Given the description of an element on the screen output the (x, y) to click on. 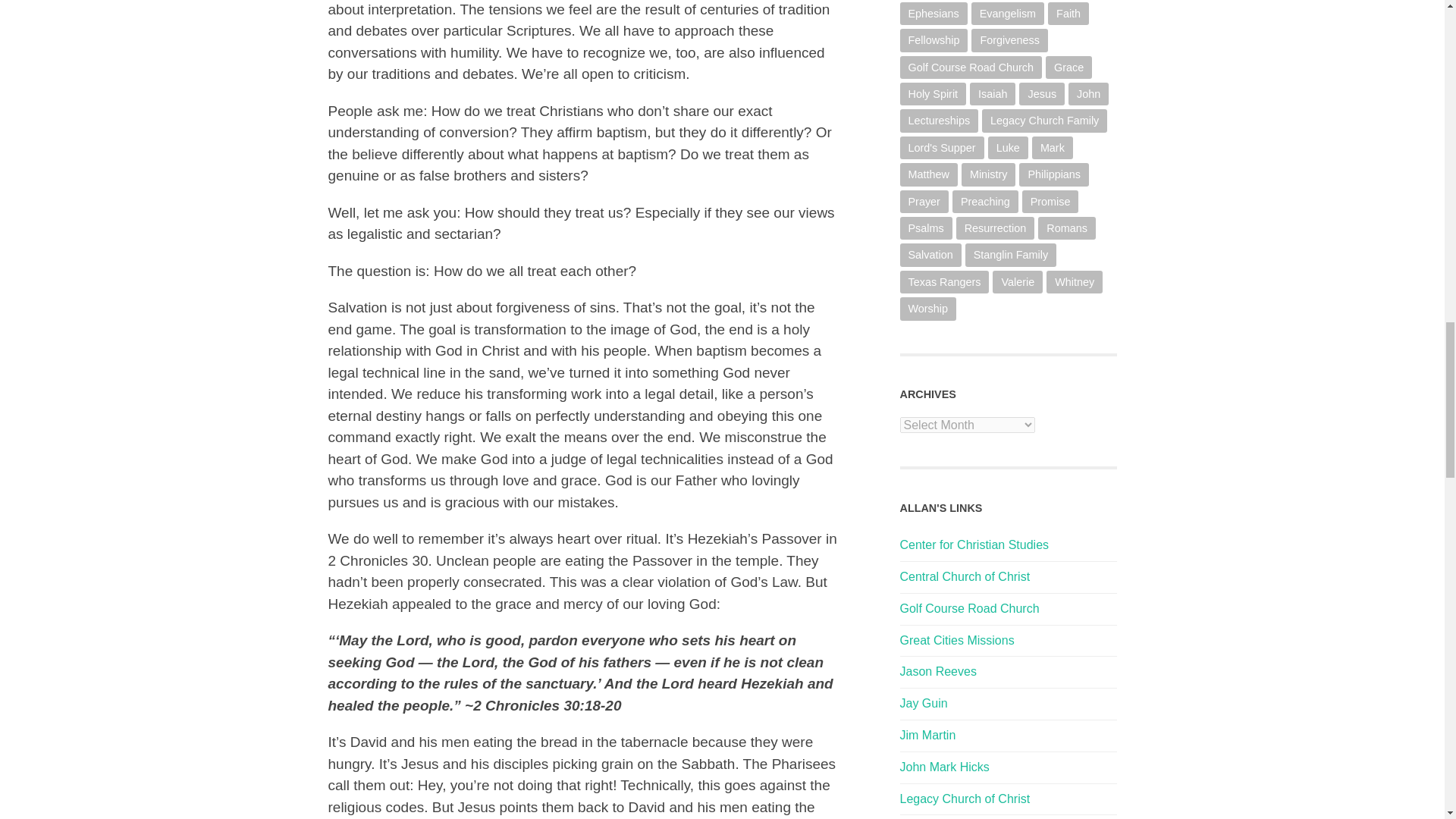
John Mark Hicks Ministries (943, 766)
Equipping and Encouraging Missionaries and Church Planters (956, 640)
Central Church of Christ in Amarillo, Texas (964, 576)
GCR Church (969, 608)
One in Jesus (923, 703)
CCS (973, 544)
God Hungry (927, 735)
Legacy Church of Christ in North Richland Hills, Texas (964, 798)
